Given the description of an element on the screen output the (x, y) to click on. 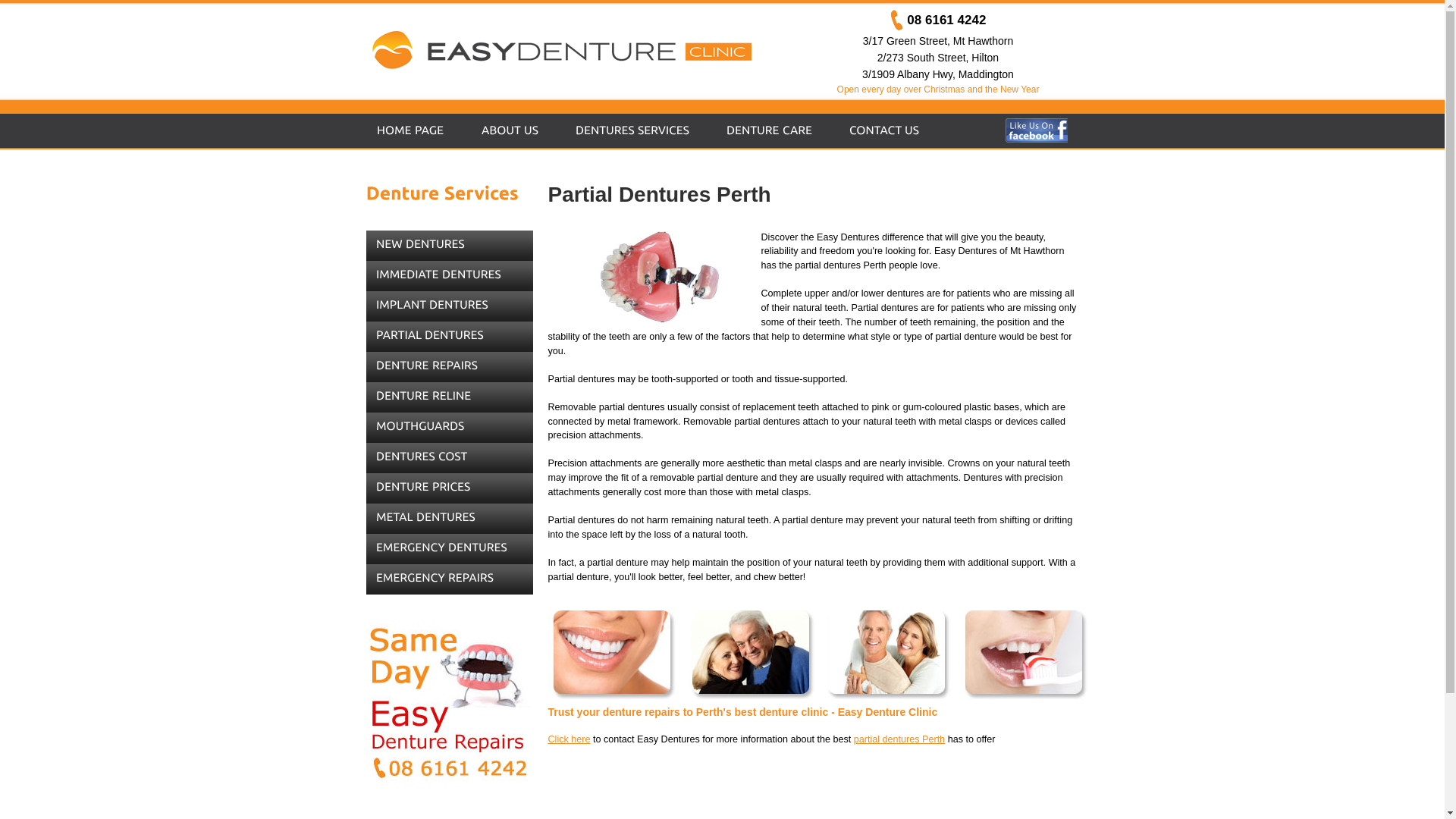
Click here Element type: text (568, 739)
Find us on Facebook Element type: hover (1036, 124)
partial dentures Perth Element type: text (898, 739)
Easy Dentures Element type: text (579, 49)
